Given the description of an element on the screen output the (x, y) to click on. 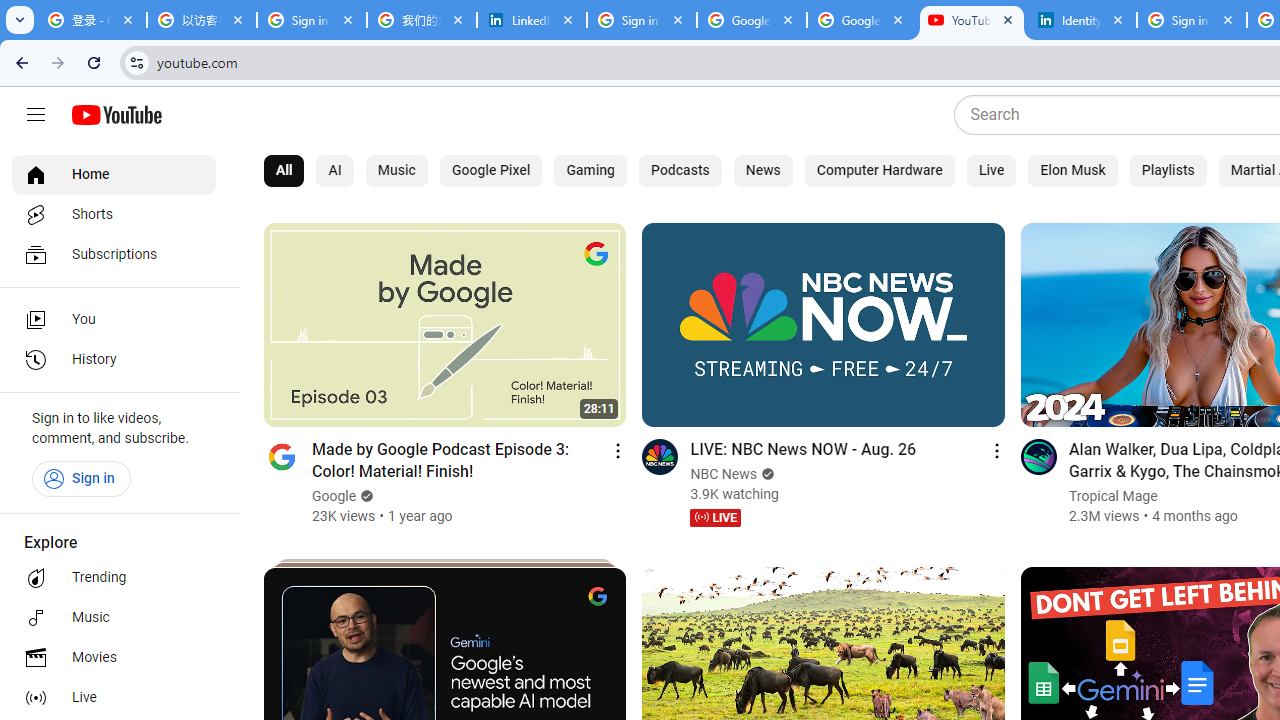
Guide (35, 115)
Computer Hardware (878, 170)
Live (113, 697)
LIVE: NBC News NOW - Aug. 26 by NBC News 61,506 views (802, 448)
Gaming (591, 170)
LIVE (715, 517)
Music (395, 170)
